Given the description of an element on the screen output the (x, y) to click on. 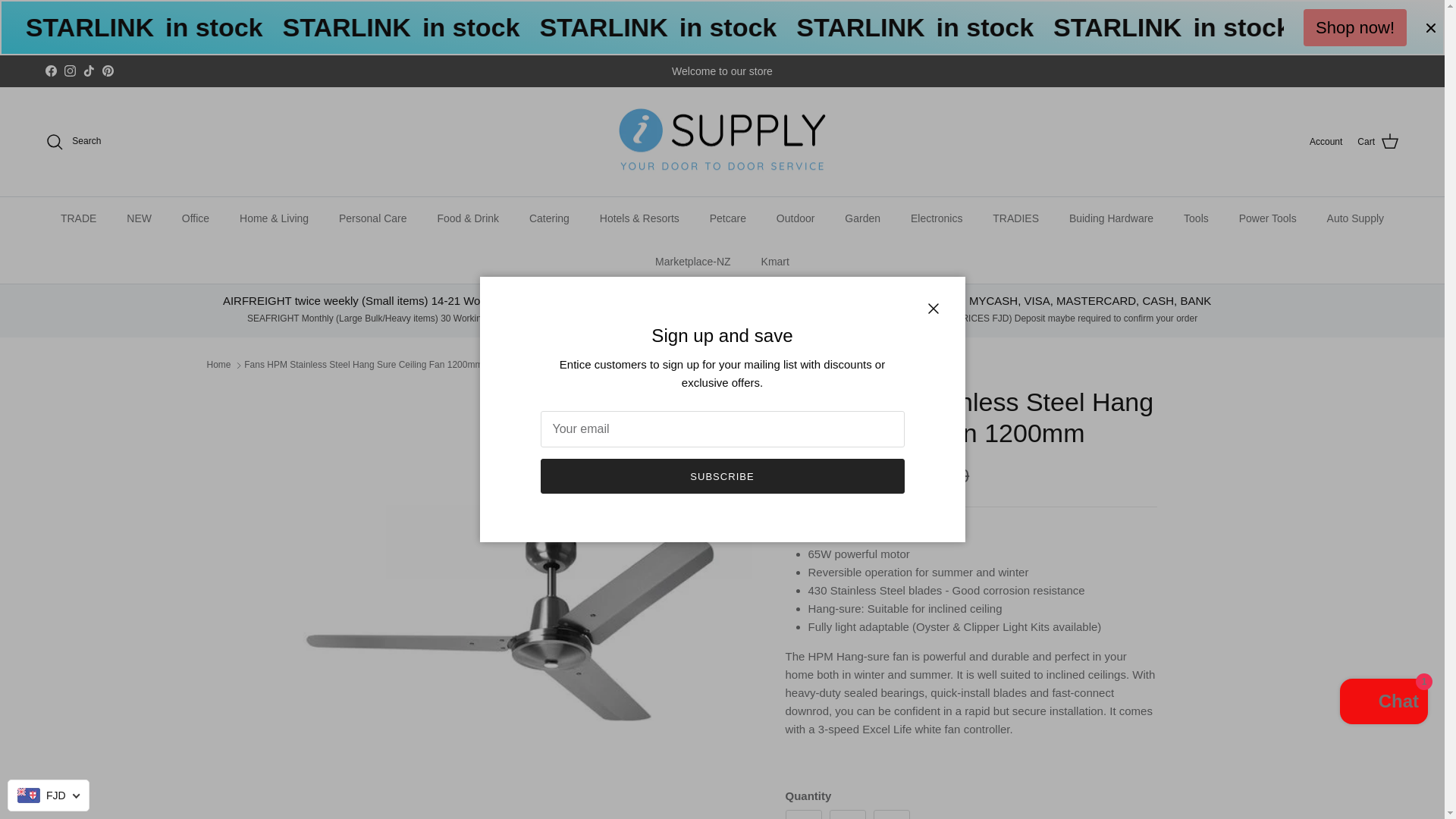
TRADE (78, 218)
Facebook (50, 70)
Cart (1377, 141)
i Supply Solutions NZ   on TikTok (88, 70)
i Supply Solutions NZ   on Instagram (69, 70)
Account (1325, 142)
TikTok (88, 70)
Pinterest (107, 70)
i Supply Solutions NZ   (721, 141)
Search (72, 141)
i Supply Solutions NZ   on Pinterest (107, 70)
Instagram (69, 70)
1 (847, 814)
Shop now! (1354, 27)
i Supply Solutions NZ   on Facebook (50, 70)
